Given the description of an element on the screen output the (x, y) to click on. 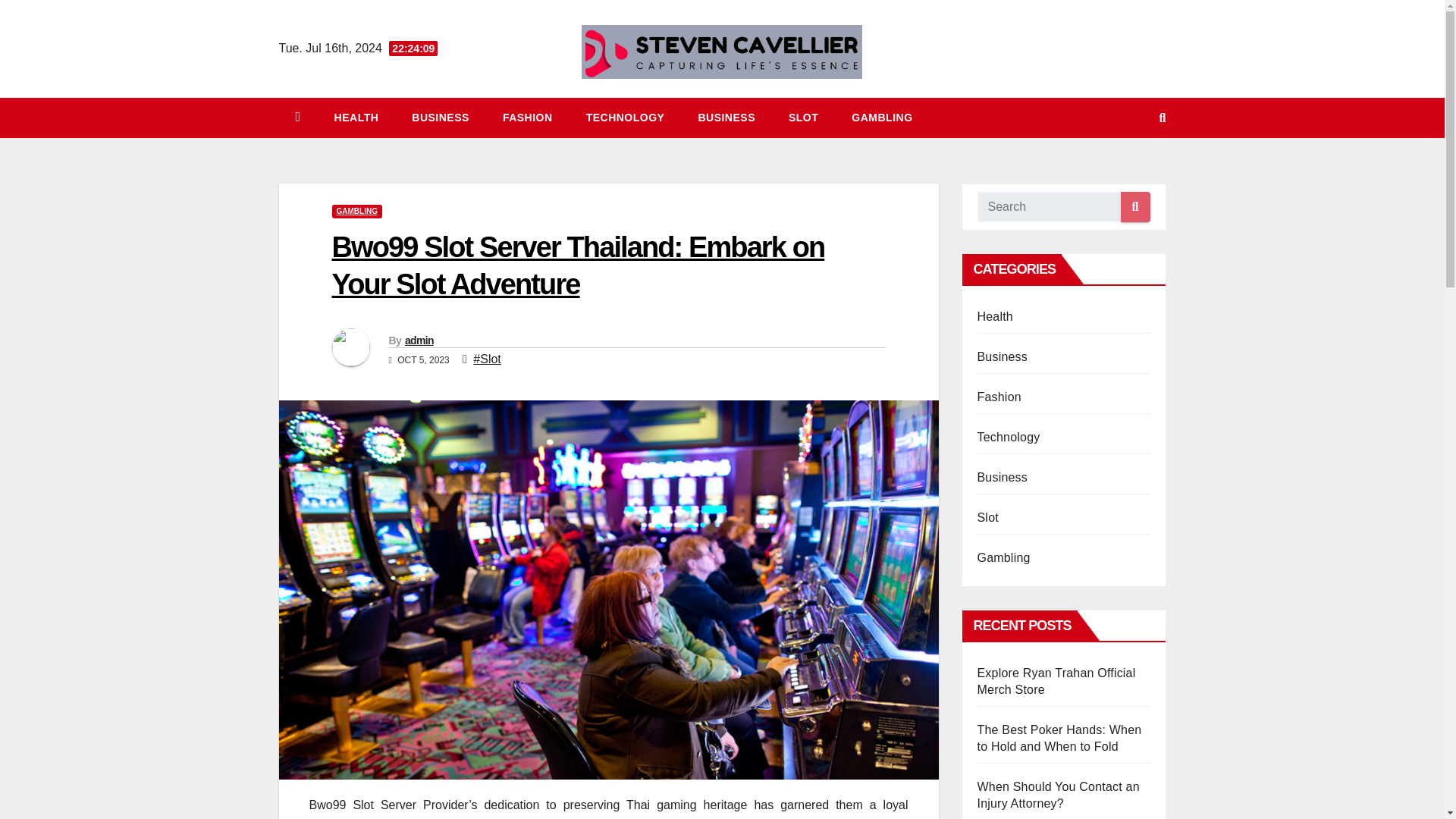
GAMBLING (356, 211)
Bwo99 Slot Server Thailand: Embark on Your Slot Adventure (578, 265)
Gambling (881, 117)
Health (356, 117)
Fashion (527, 117)
BUSINESS (440, 117)
FASHION (527, 117)
Slot (802, 117)
Business (726, 117)
HEALTH (356, 117)
Technology (625, 117)
SLOT (802, 117)
BUSINESS (726, 117)
TECHNOLOGY (625, 117)
